Given the description of an element on the screen output the (x, y) to click on. 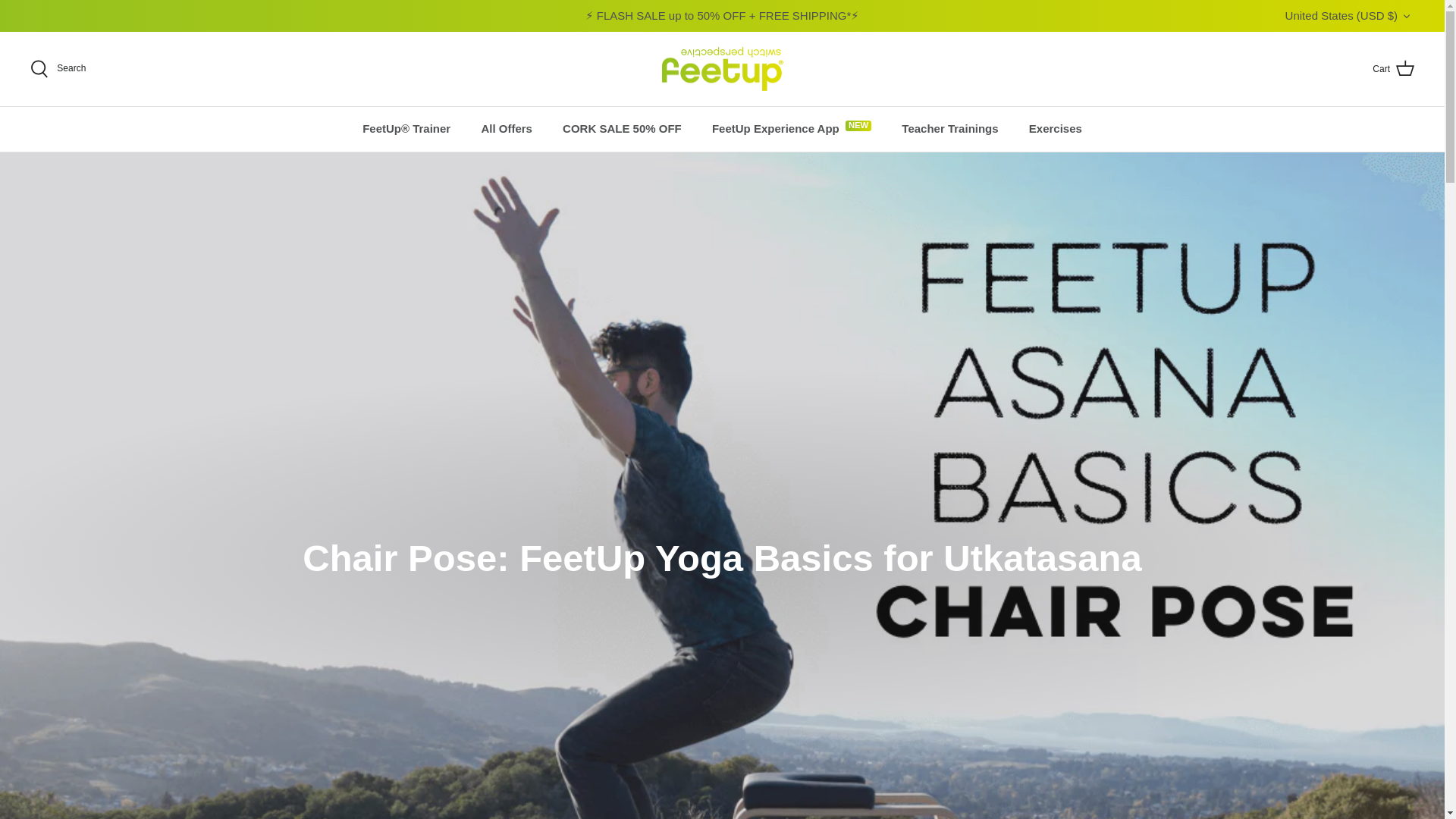
Down (1406, 16)
